Given the description of an element on the screen output the (x, y) to click on. 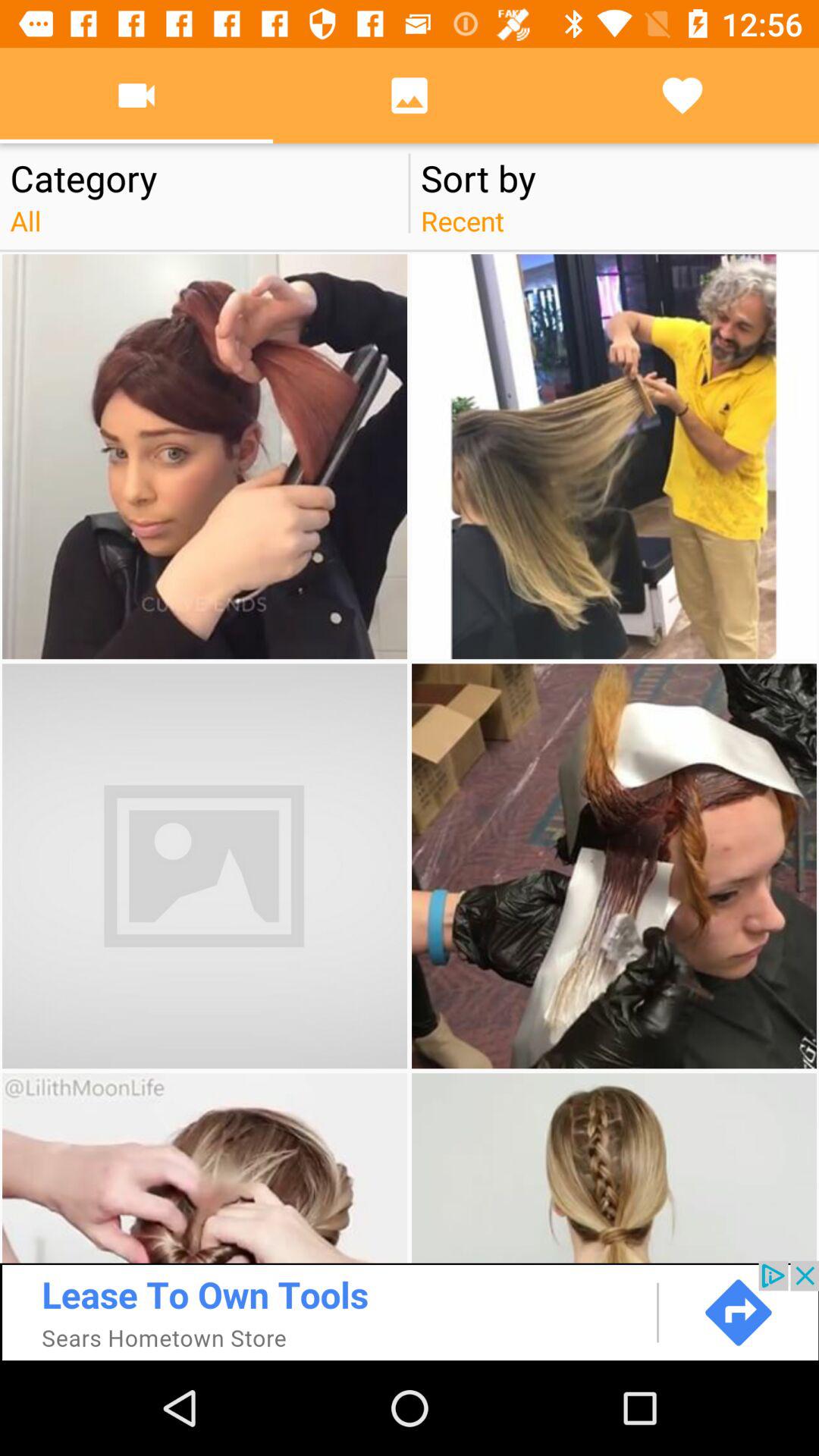
view advertisement for lease to own tools (409, 1310)
